Given the description of an element on the screen output the (x, y) to click on. 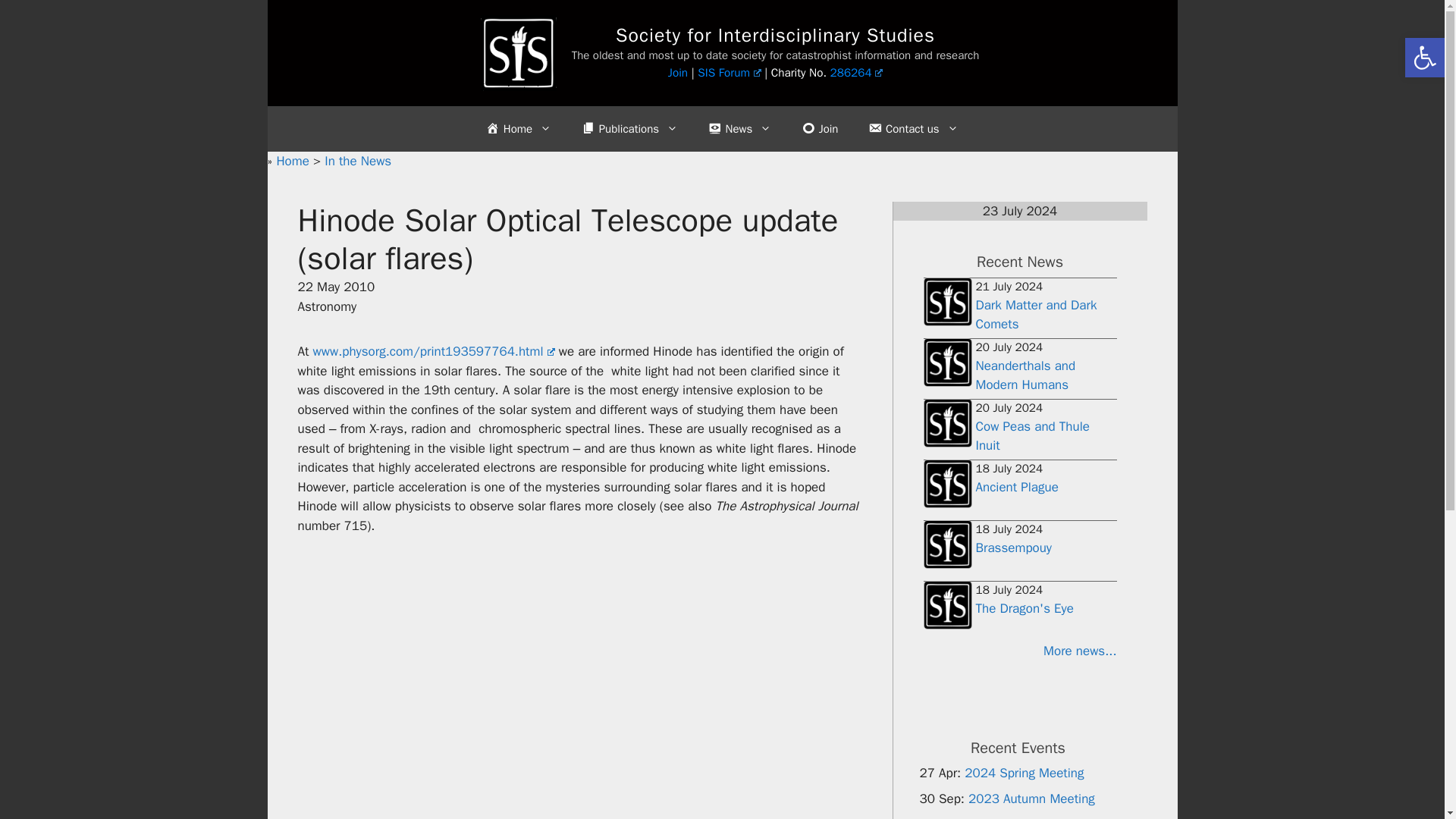
Publications (629, 128)
286264 (856, 72)
Home (294, 160)
SIS Forum (728, 72)
Join (677, 72)
Accessibility Tools (1424, 57)
News (739, 128)
Home (518, 128)
Society for Interdisciplinary Studies (774, 34)
Contact us (912, 128)
Join (819, 128)
